Given the description of an element on the screen output the (x, y) to click on. 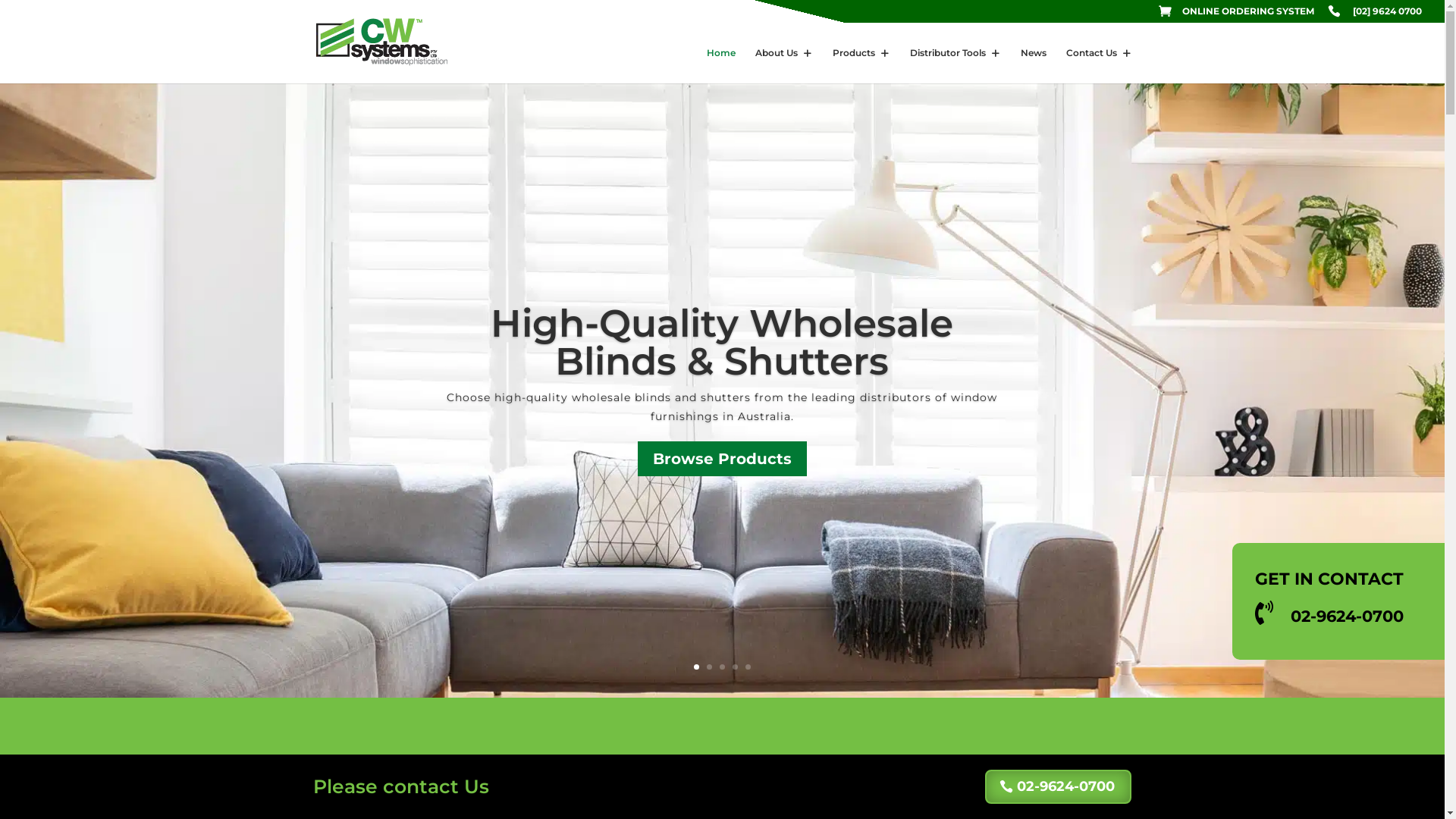
3 Element type: text (721, 666)
ONLINE ORDERING SYSTEM Element type: text (1236, 14)
High-Quality Wholesale Blinds & Shutters Element type: text (721, 342)
News Element type: text (1033, 65)
4 Element type: text (734, 666)
Products Element type: text (861, 65)
02-9624-0700 Element type: text (1058, 786)
[02] 9624 0700 Element type: text (1374, 14)
About Us Element type: text (783, 65)
2 Element type: text (709, 666)
5 Element type: text (747, 666)
Home Element type: text (720, 65)
Browse Products Element type: text (721, 458)
Contact Us Element type: text (1099, 65)
Distributor Tools Element type: text (955, 65)
1 Element type: text (696, 666)
